Given the description of an element on the screen output the (x, y) to click on. 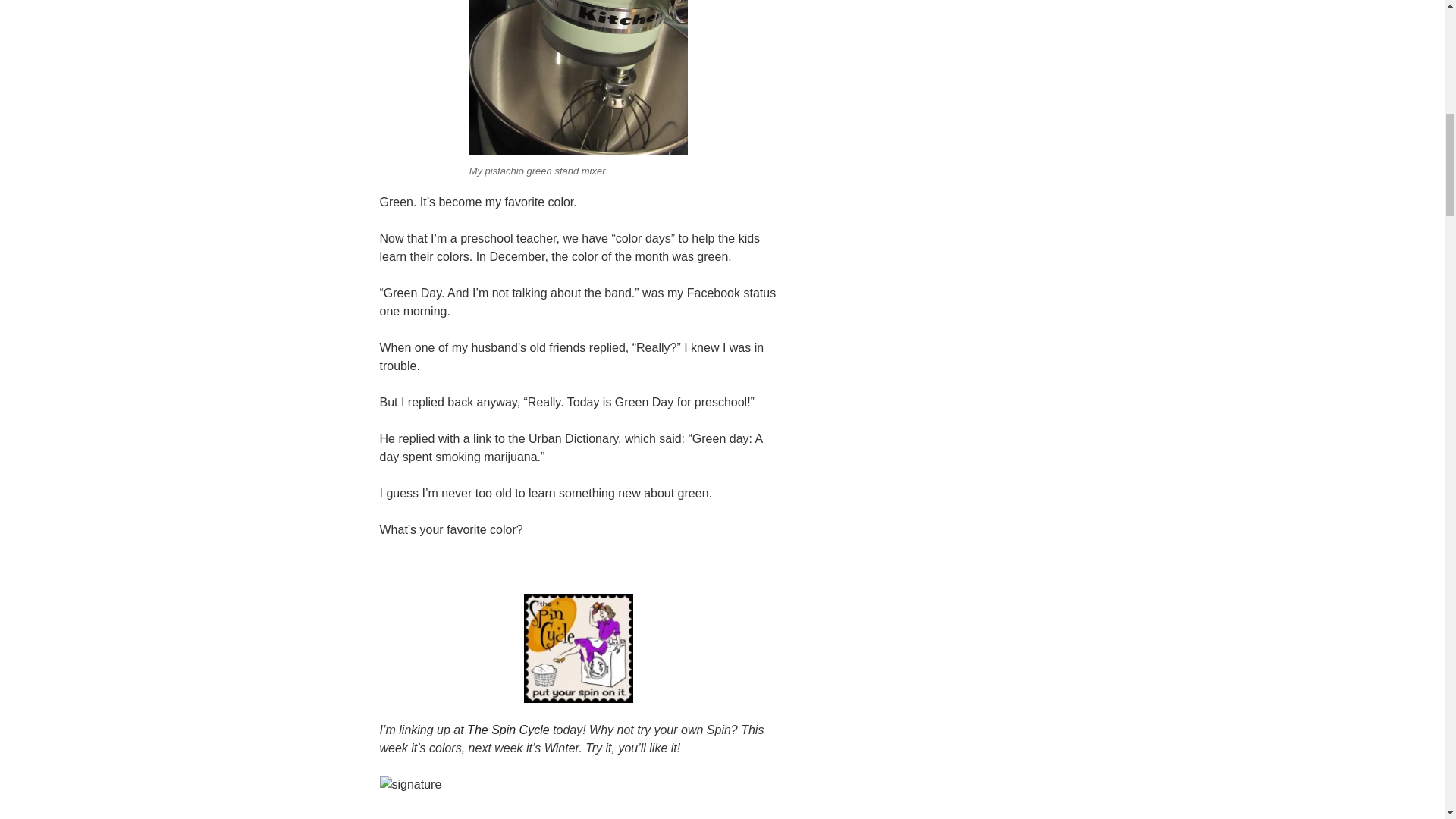
Spin Cycle (578, 647)
The Spin Cycle (508, 729)
The Spin Cycle (508, 729)
